Given the description of an element on the screen output the (x, y) to click on. 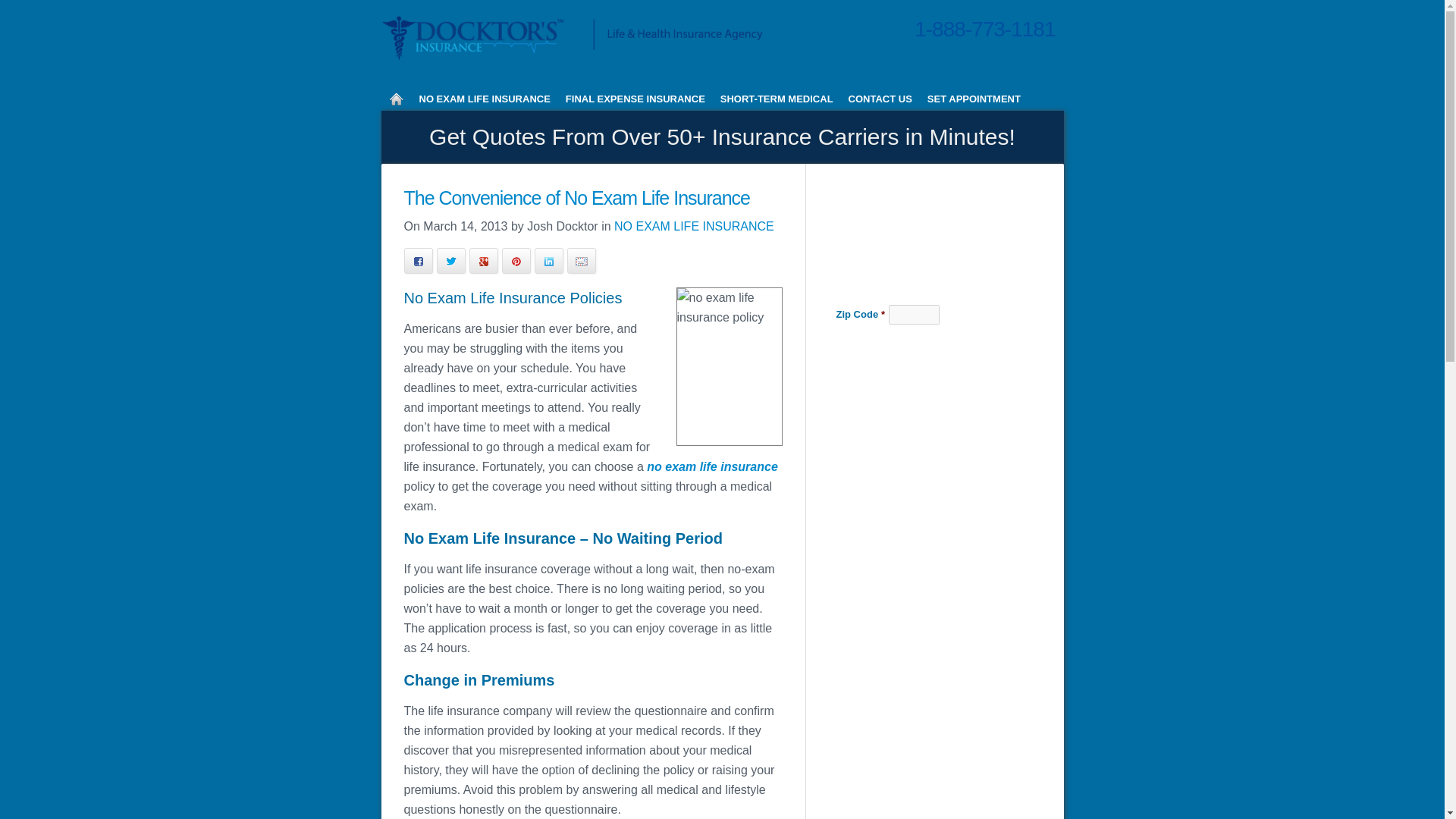
Submit (924, 345)
NO EXAM LIFE INSURANCE (484, 99)
The Convenience of No Exam Life Insurance (576, 197)
SET APPOINTMENT (973, 99)
FINAL EXPENSE INSURANCE (635, 99)
Share this article on LinkedIn (548, 260)
NO EXAM LIFE INSURANCE (694, 226)
Share this article on Facebook (417, 260)
Share an image of this article on Pinterest (516, 260)
Share this article on Twitter (450, 260)
Submit (924, 345)
2013-03-14 (464, 226)
no exam life insurance (711, 466)
SHORT-TERM MEDICAL (776, 99)
CONTACT US (880, 99)
